Given the description of an element on the screen output the (x, y) to click on. 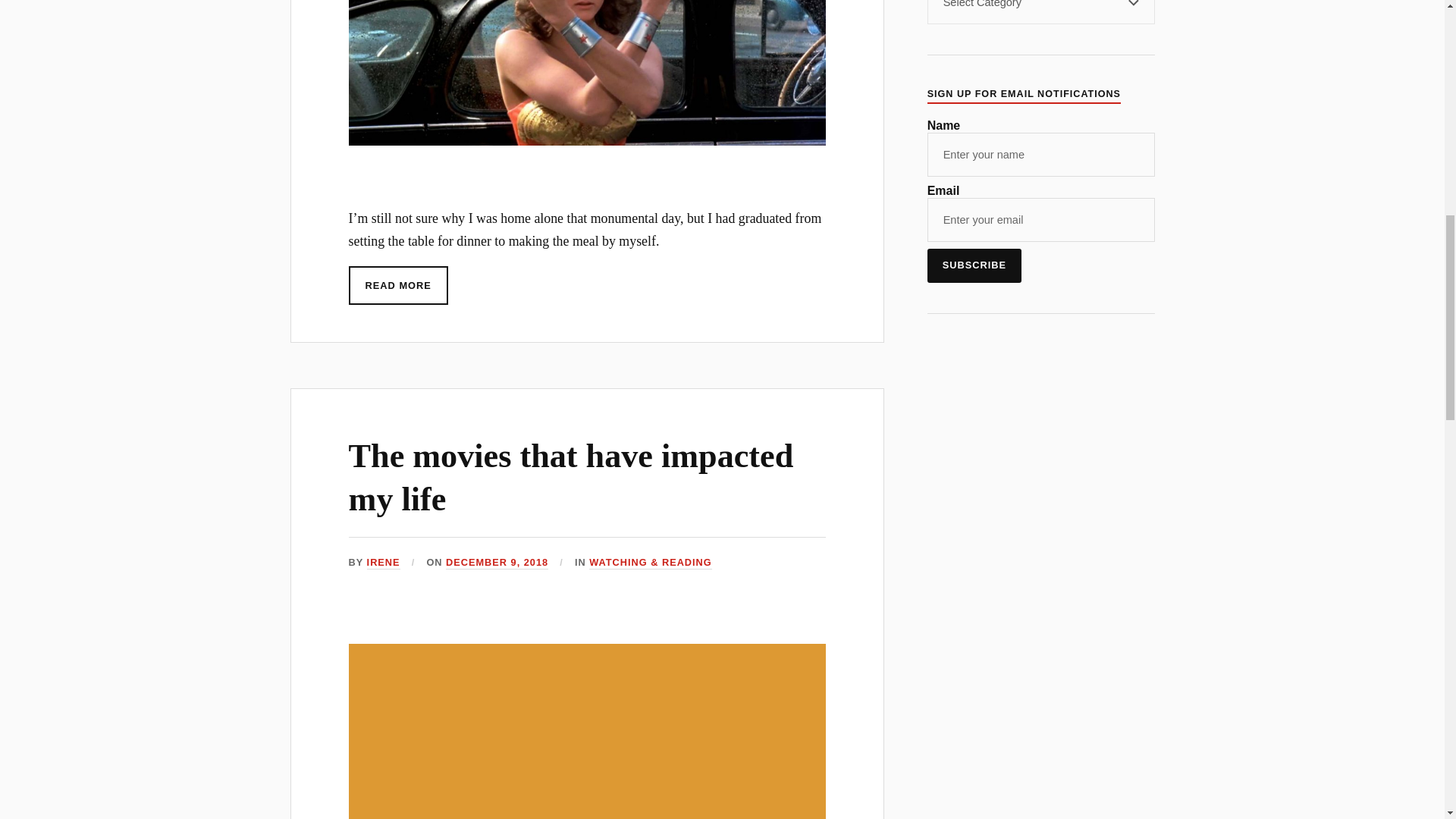
The movies that have impacted my life (571, 477)
IRENE (383, 562)
Posts by Irene (383, 562)
READ MORE (398, 285)
Subscribe (974, 265)
DECEMBER 9, 2018 (496, 562)
